Given the description of an element on the screen output the (x, y) to click on. 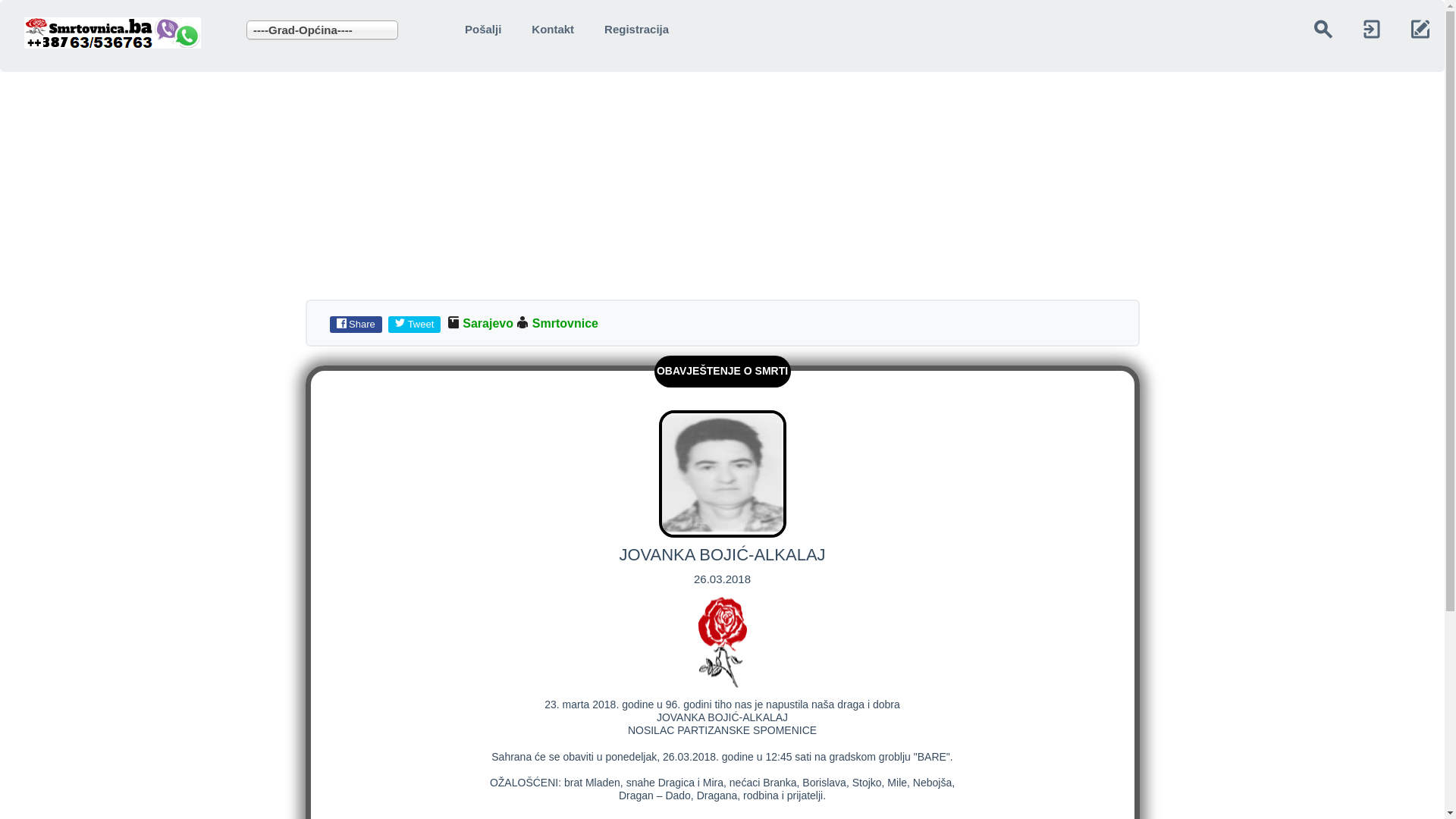
Tweet Element type: text (417, 322)
Advertisement Element type: hover (455, 178)
Share Element type: text (358, 322)
Registracija Element type: text (636, 28)
Smrtovnice Element type: text (565, 322)
Kontakt Element type: text (552, 28)
Sarajevo Element type: text (487, 322)
